Given the description of an element on the screen output the (x, y) to click on. 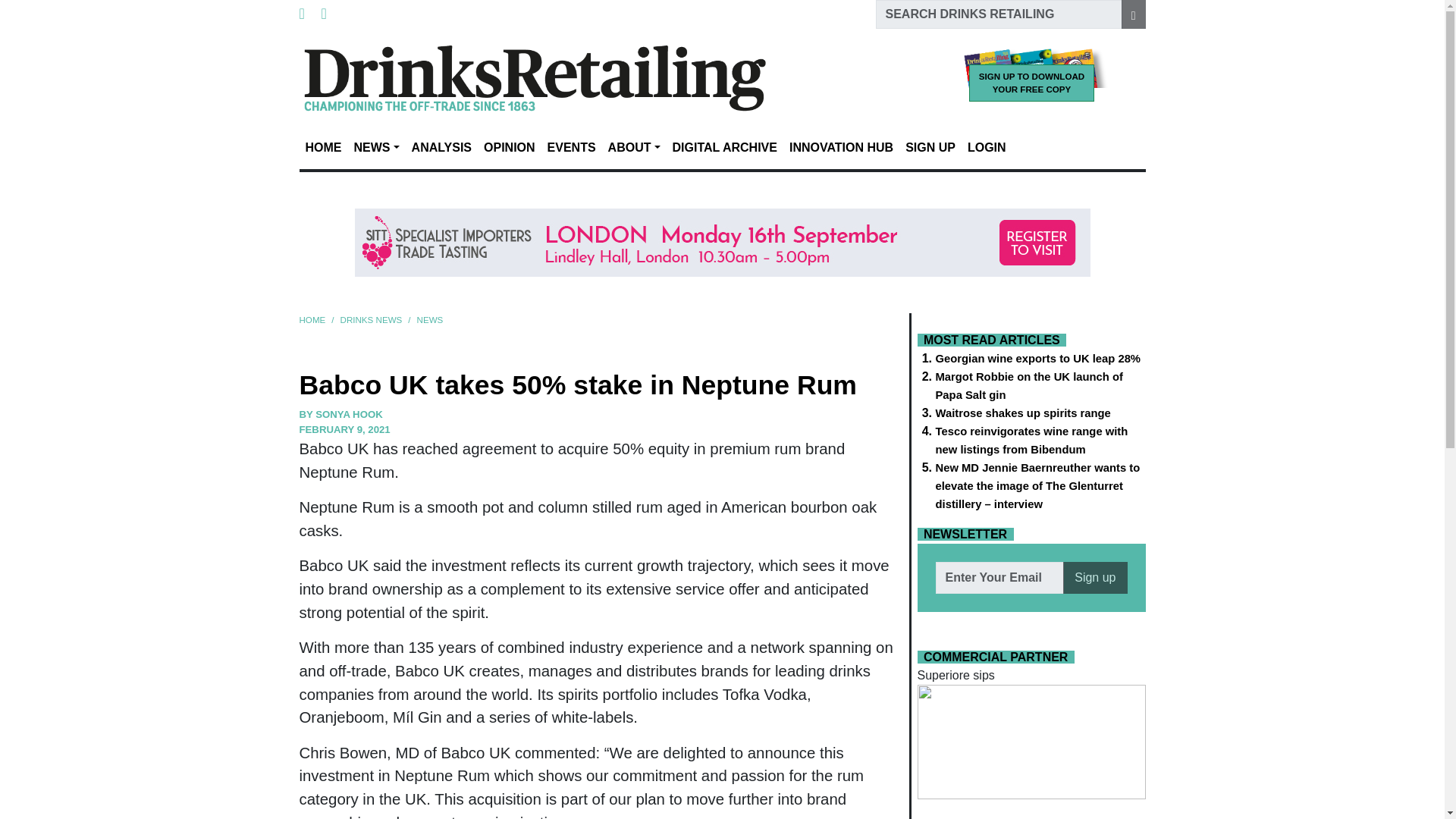
SIGN UP (929, 147)
SITT Autumn 2024 (722, 242)
Waitrose shakes up spirits range    (1028, 413)
HOME (322, 147)
Sign up (1094, 577)
EVENTS (571, 147)
DIGITAL ARCHIVE (724, 147)
ABOUT (634, 147)
